Given the description of an element on the screen output the (x, y) to click on. 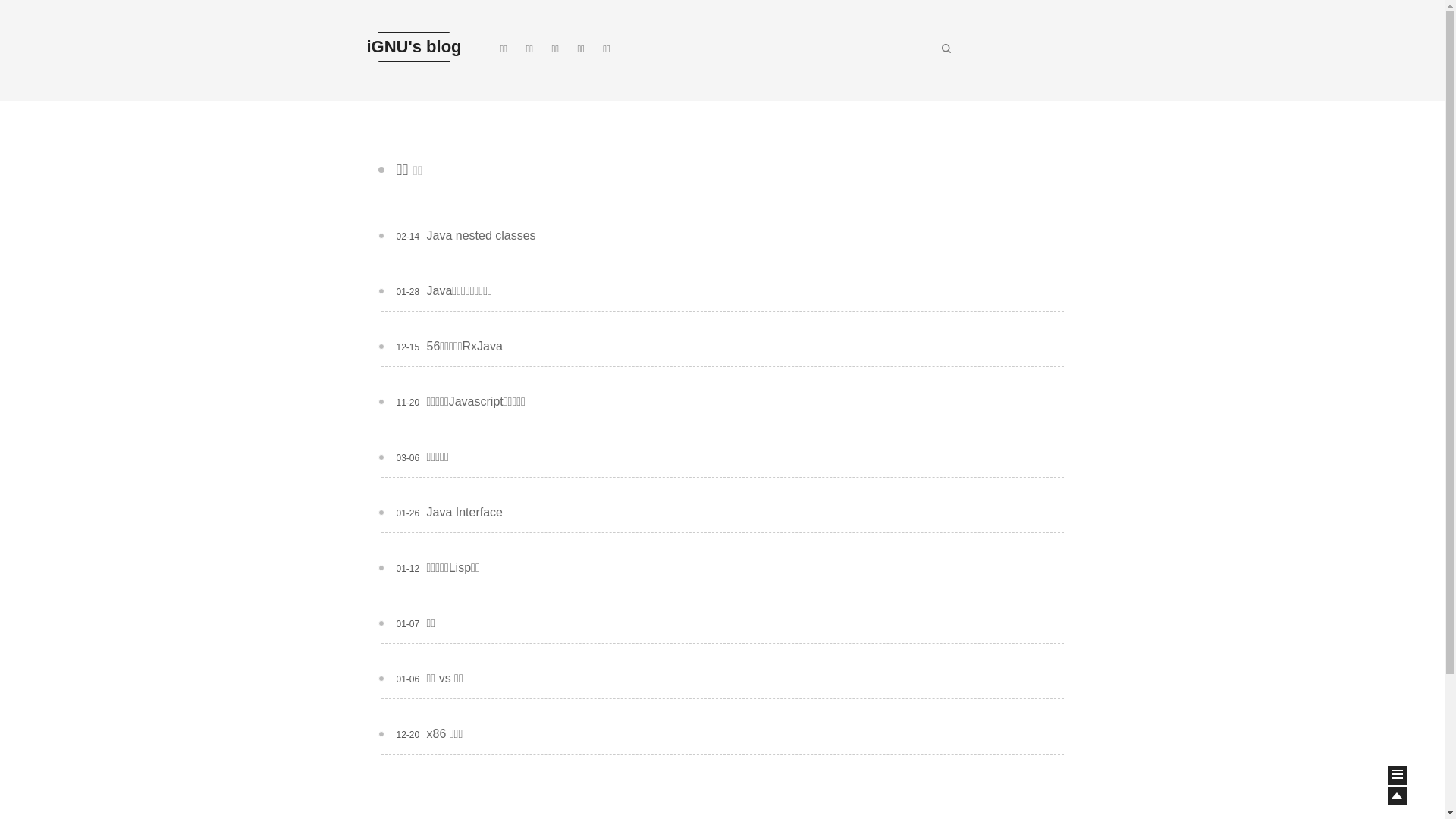
Java Interface Element type: text (464, 511)
iGNU's blog Element type: text (413, 46)
Java nested classes Element type: text (480, 235)
